Given the description of an element on the screen output the (x, y) to click on. 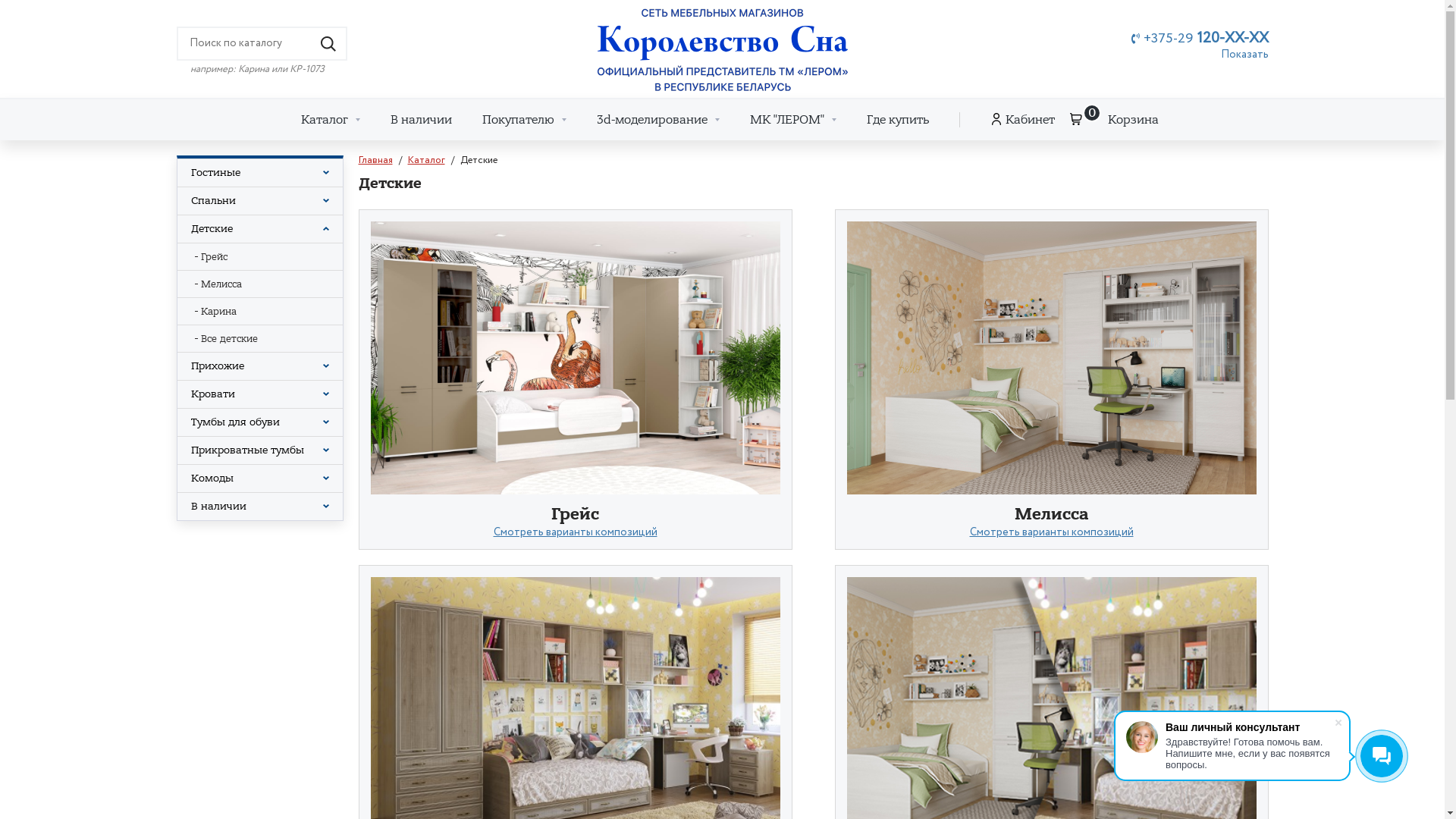
+375-29 120-XX-XX Element type: text (1199, 39)
